Given the description of an element on the screen output the (x, y) to click on. 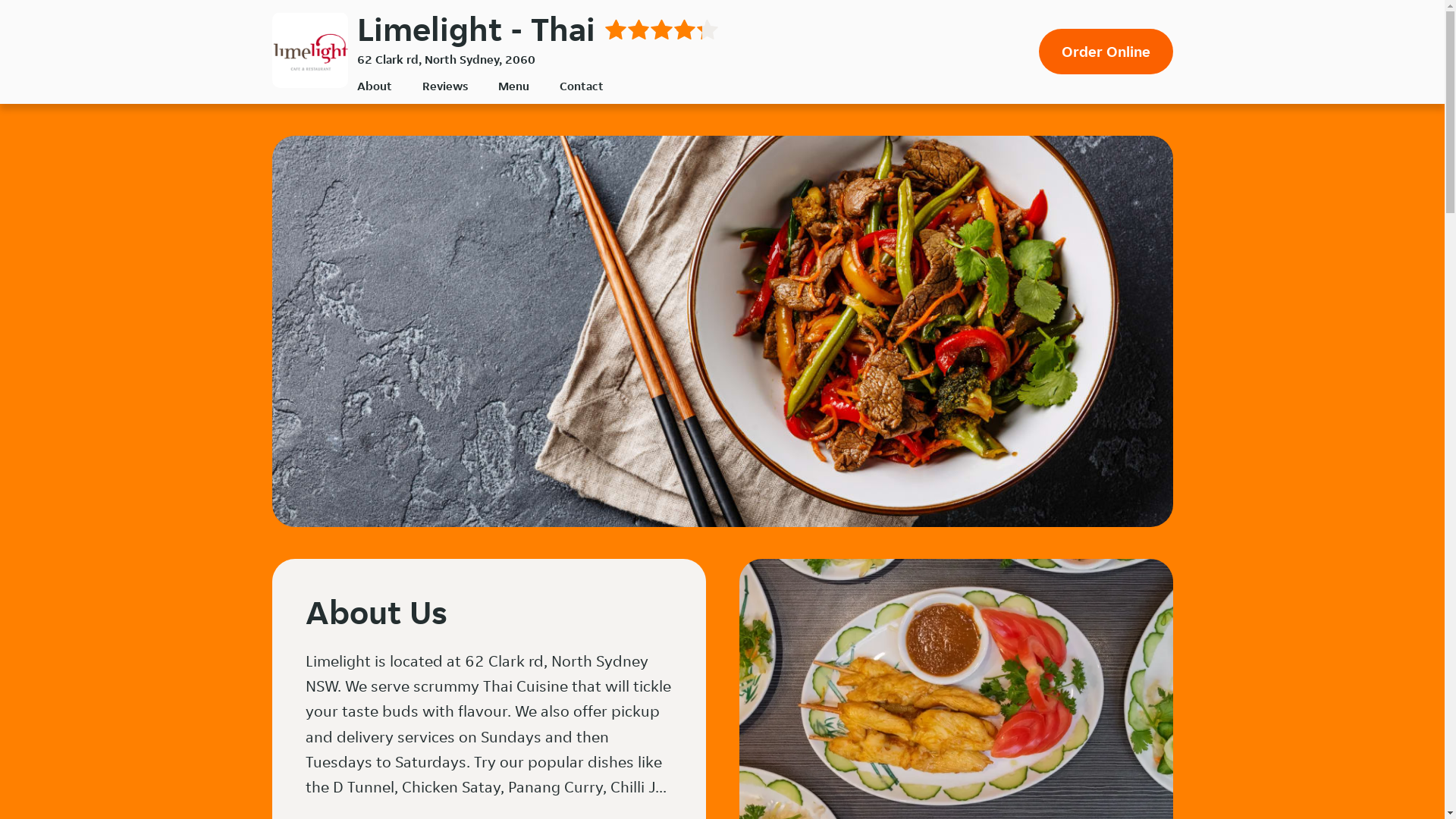
Limelight Element type: hover (309, 49)
Contact Element type: text (581, 86)
About Element type: text (373, 86)
Reviews Element type: text (444, 86)
Menu Element type: text (512, 86)
Order Online Element type: text (1105, 51)
